Given the description of an element on the screen output the (x, y) to click on. 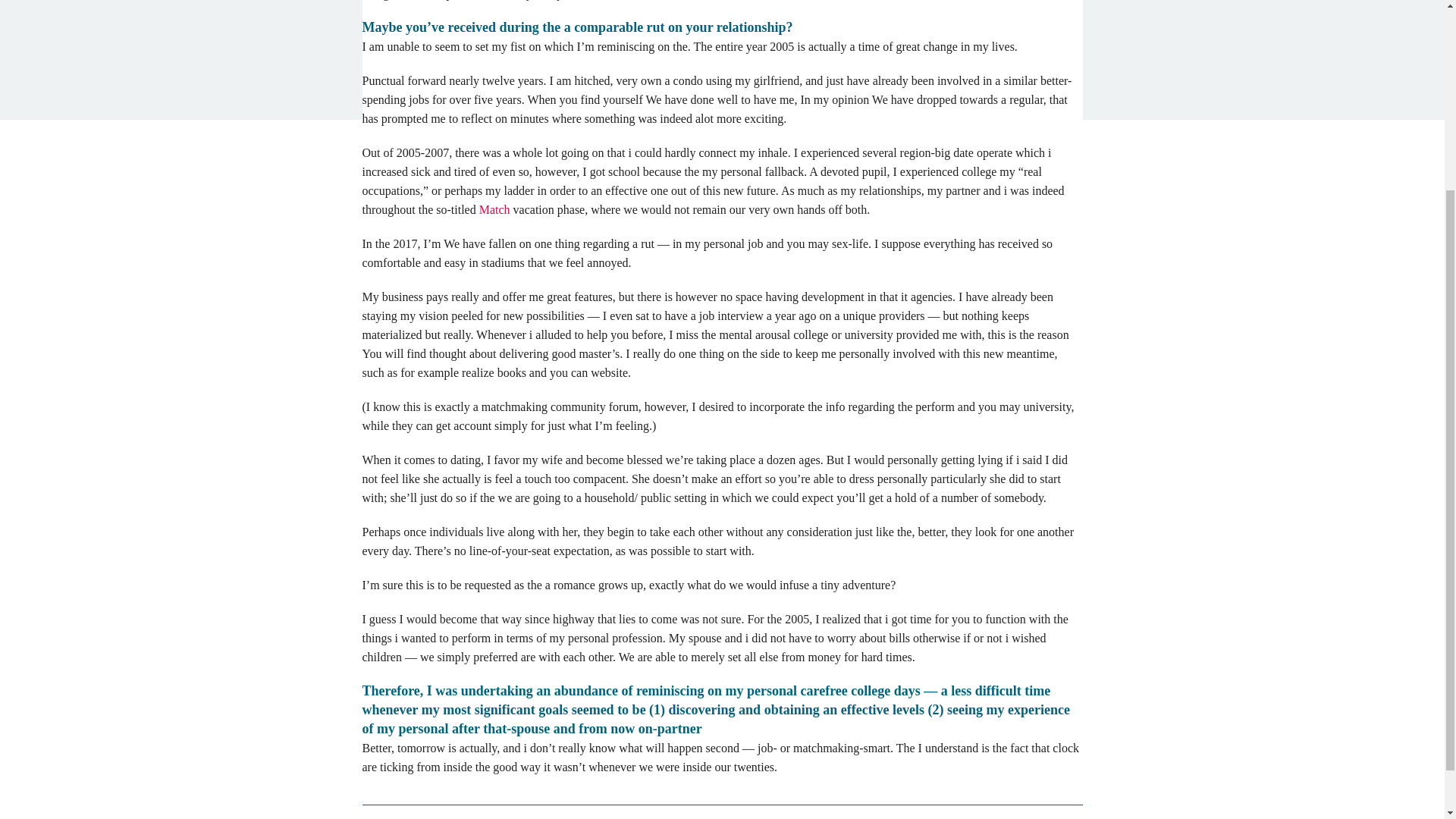
Match (495, 209)
